Given the description of an element on the screen output the (x, y) to click on. 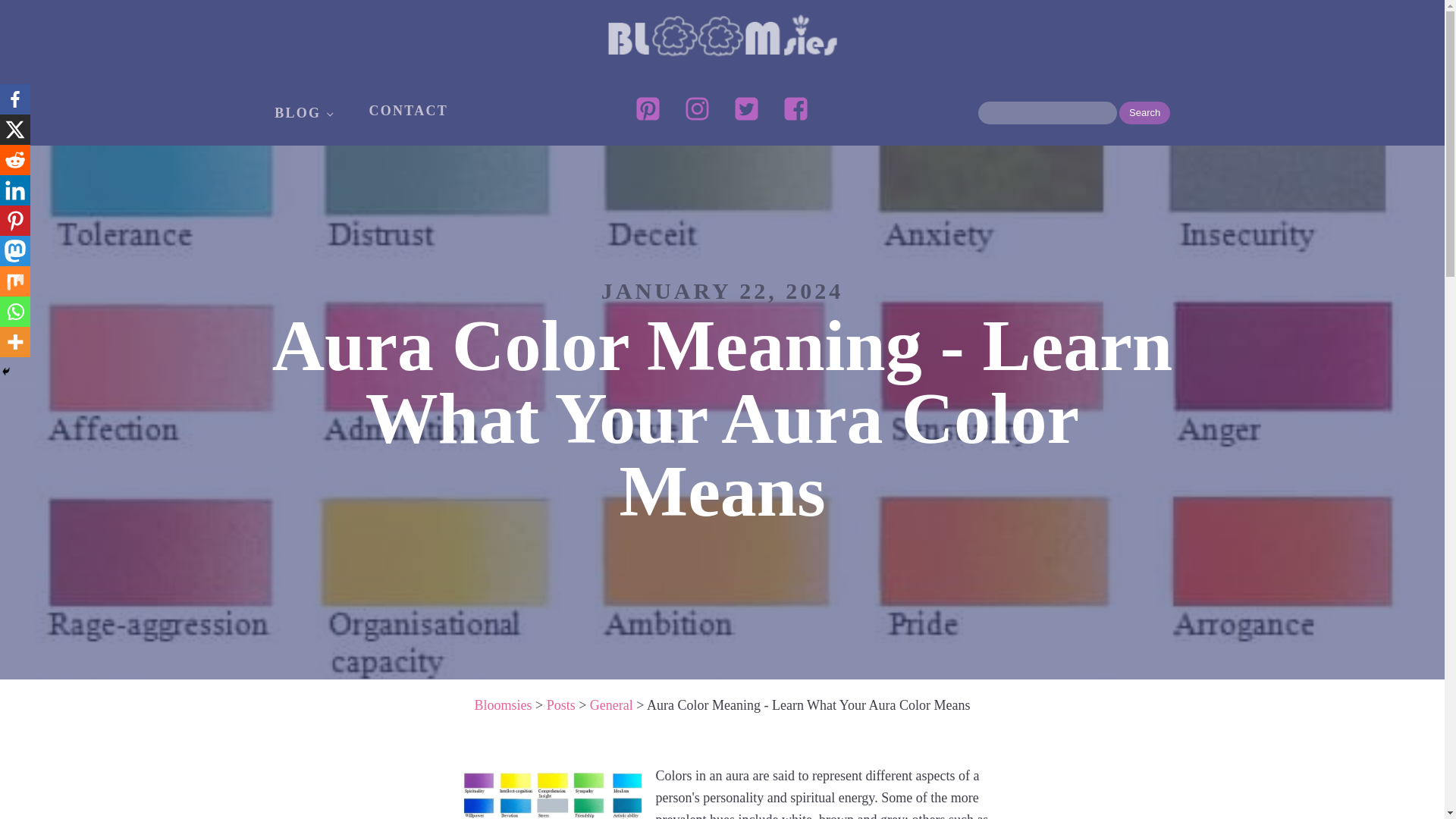
Posts (561, 704)
Reddit (15, 159)
General (611, 704)
Search (1144, 112)
BLOG (303, 112)
CONTACT (407, 110)
Go to Bloomsies. (502, 704)
Bloomsies (502, 704)
X (15, 129)
Search (1144, 112)
Go to the General Category archives. (611, 704)
Facebook (15, 99)
Go to Posts. (561, 704)
